Given the description of an element on the screen output the (x, y) to click on. 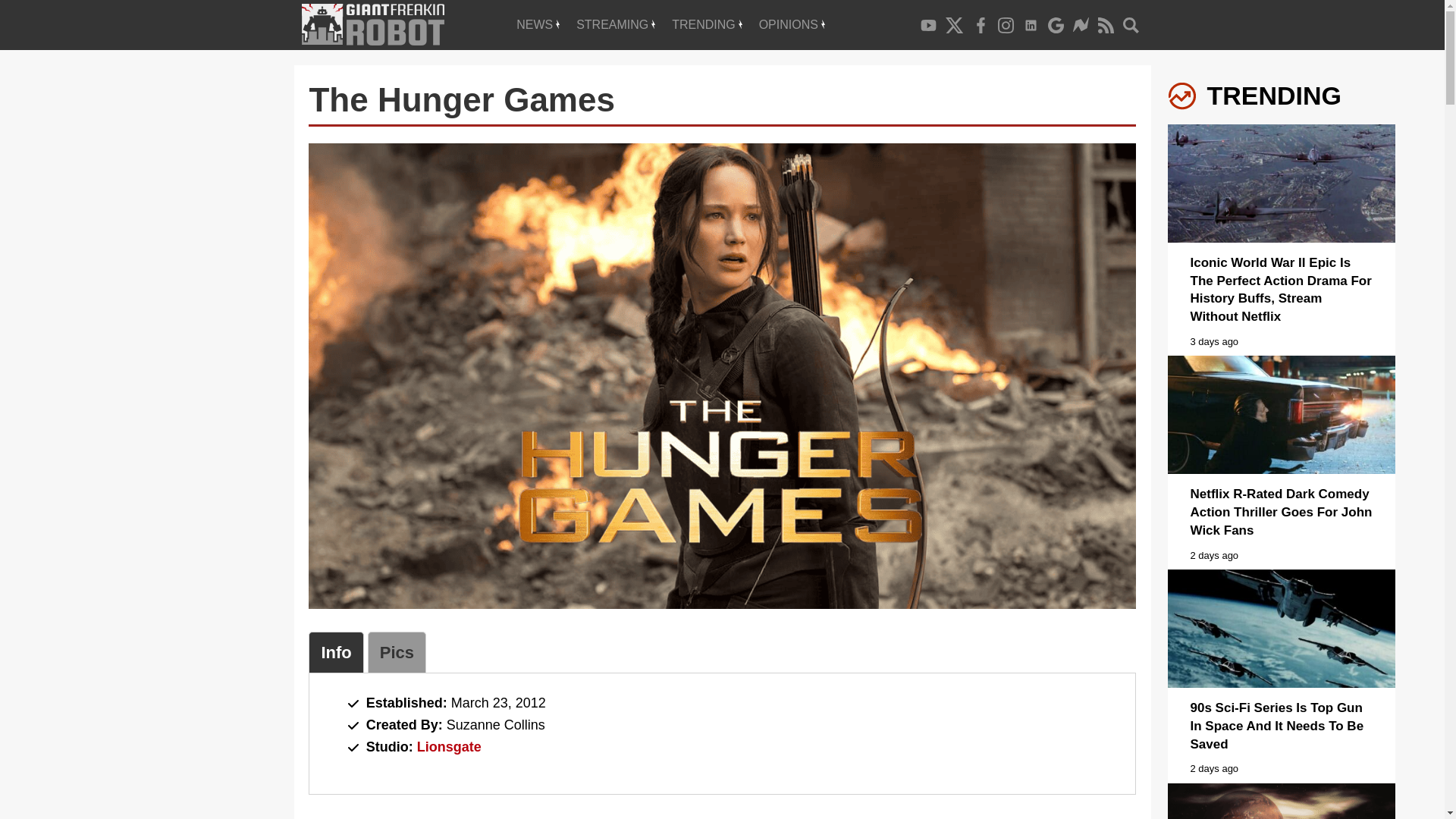
TRENDING (706, 24)
Entertainment News (537, 24)
Lionsgate (448, 746)
STREAMING (615, 24)
NEWS (537, 24)
Streaming (615, 24)
Trending (706, 24)
OPINIONS (791, 24)
